Given the description of an element on the screen output the (x, y) to click on. 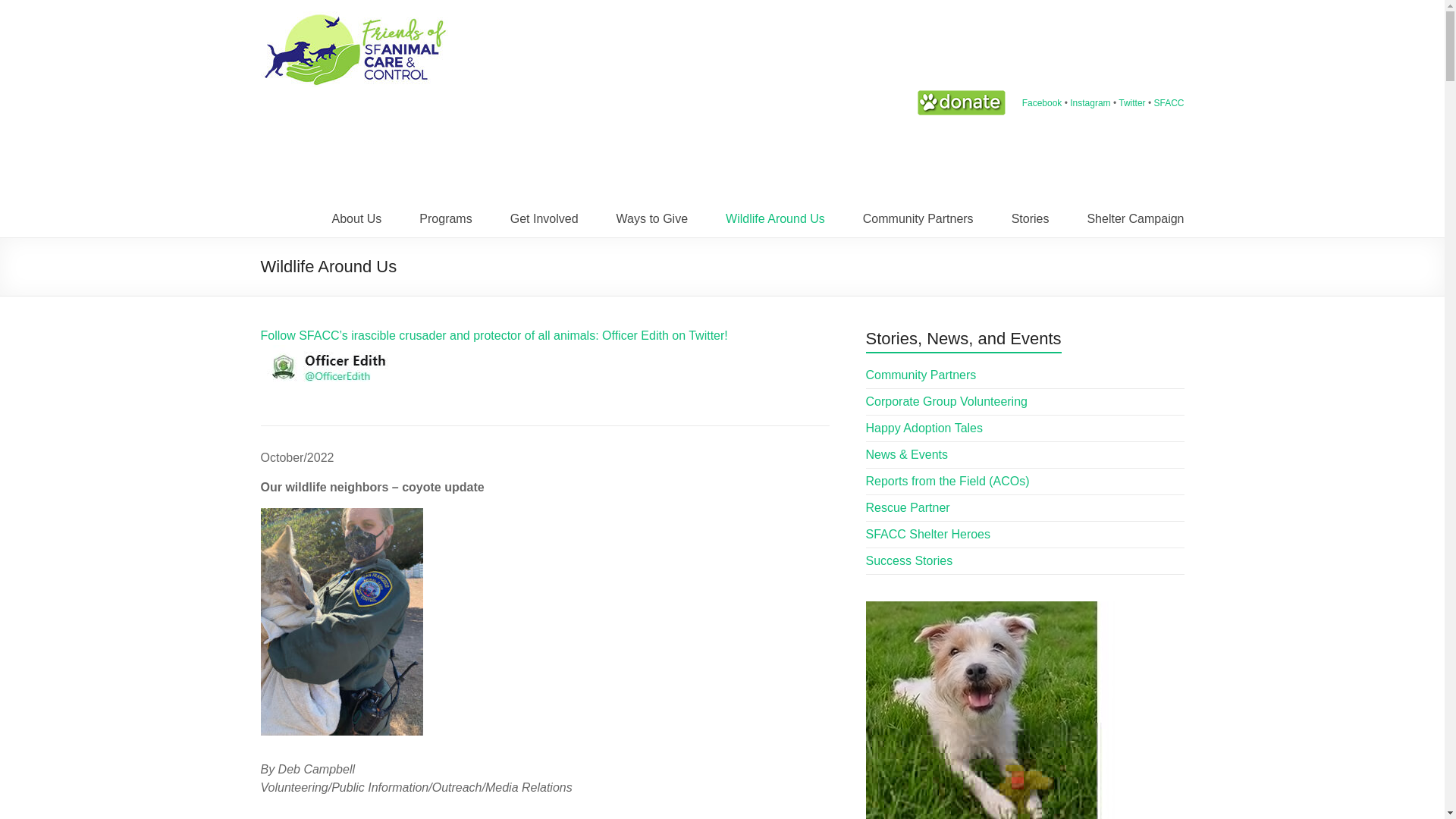
Programs (445, 210)
Community Partners (918, 210)
Get Involved (544, 210)
Twitter (1133, 102)
Ways to Give (651, 210)
About Us (356, 210)
SFACC (1168, 102)
Wildlife Around Us (775, 210)
Stories (1030, 210)
Instagram (1091, 102)
